Given the description of an element on the screen output the (x, y) to click on. 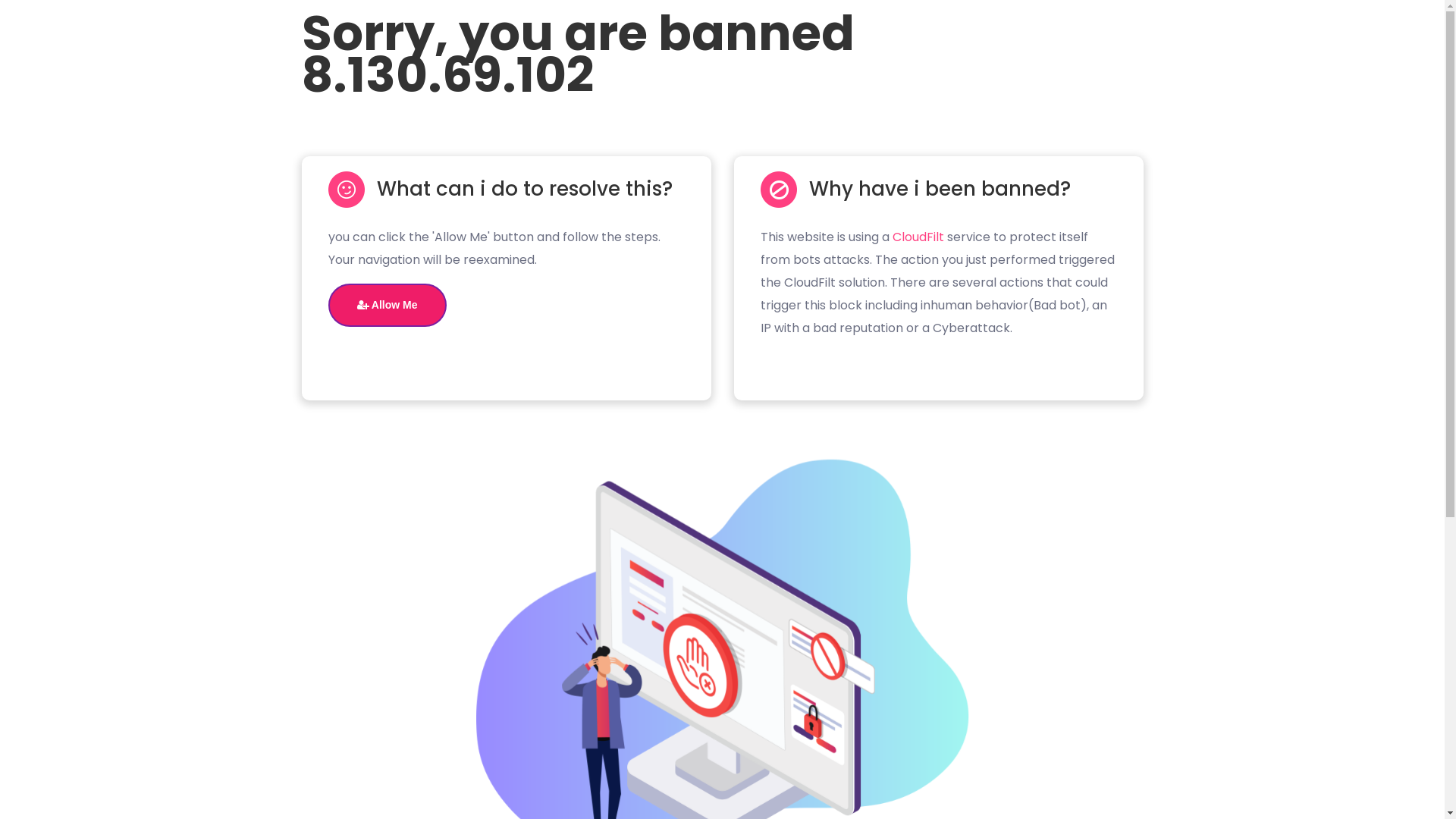
Allow Me Element type: text (386, 304)
CloudFilt Element type: text (917, 236)
